Given the description of an element on the screen output the (x, y) to click on. 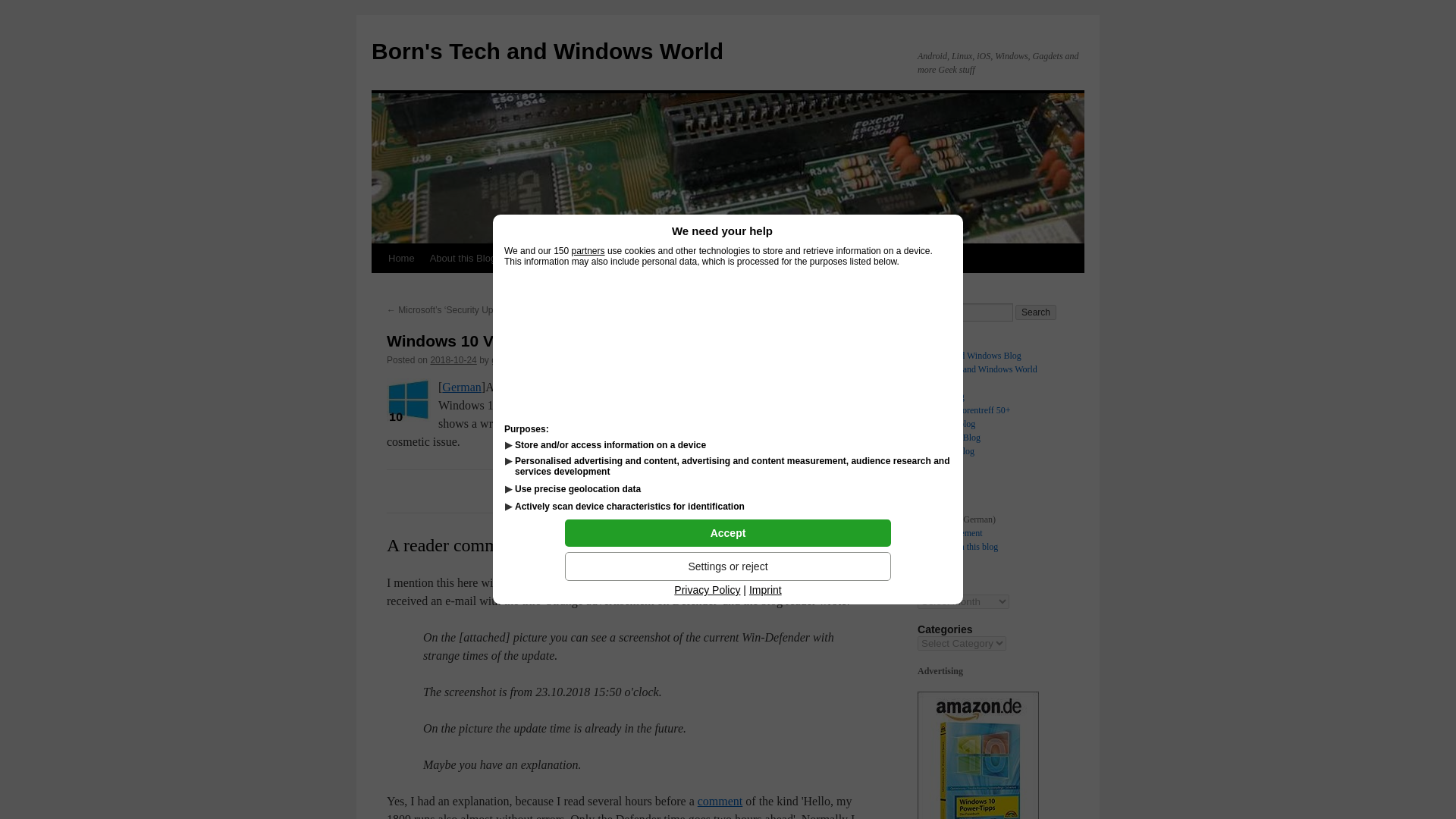
guenni (505, 359)
Win10 Wiki (738, 258)
2018-10-24 (452, 359)
Born's Tech and Windows World (547, 50)
Privacy statement (949, 532)
German (461, 386)
Born's Tech and Windows World (976, 368)
Mein Reiseblog (946, 423)
comment (719, 800)
Home (928, 491)
Search (1035, 312)
View all posts by guenni (505, 359)
Advertise on this blog (557, 258)
1:12 (452, 359)
About this Blog (462, 258)
